Given the description of an element on the screen output the (x, y) to click on. 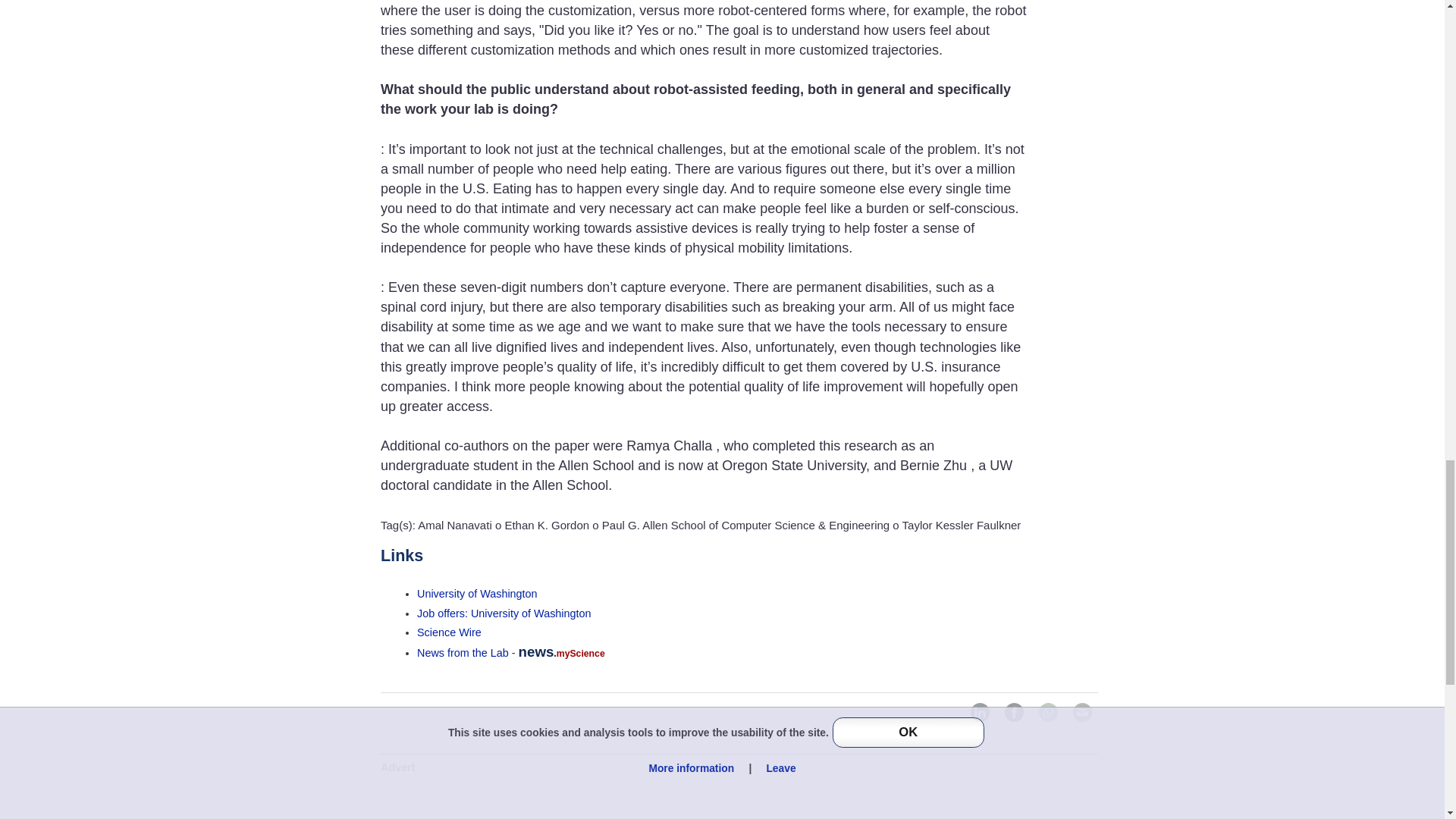
Share on LinkedIn (980, 712)
All news and press releases (448, 632)
Advertisement (738, 797)
Share on Facebook (1014, 712)
Share on WhatsApp Web (1047, 712)
News (462, 653)
Send by Email (1082, 712)
